Given the description of an element on the screen output the (x, y) to click on. 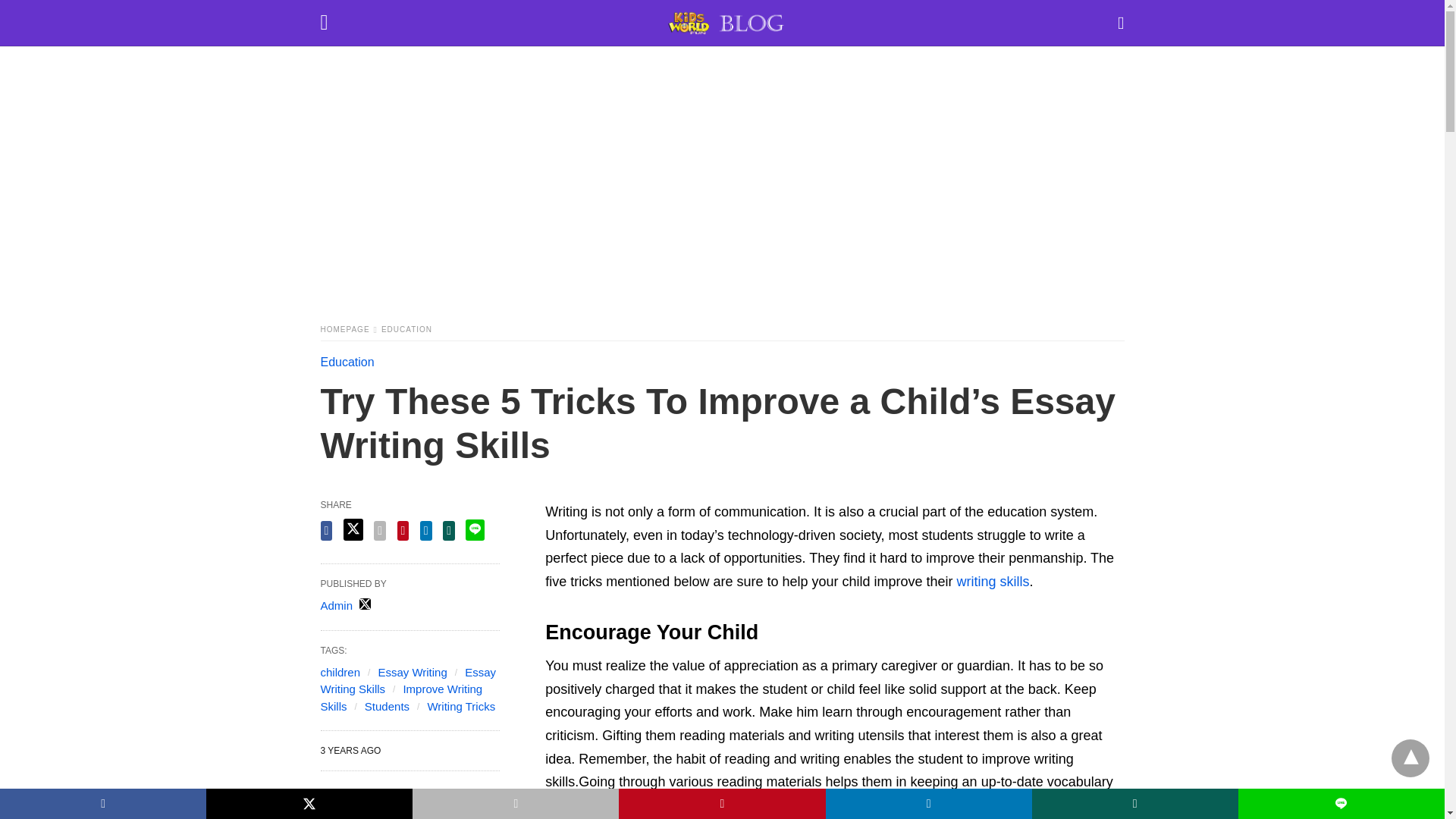
Essay Writing (411, 671)
Kids World Fun Blog (726, 22)
Education (406, 329)
line share (474, 529)
Homepage (348, 329)
Admin (336, 604)
EDUCATION (406, 329)
Education (347, 361)
children (339, 671)
HOMEPAGE (348, 329)
Education (347, 361)
writing skills (992, 581)
